Given the description of an element on the screen output the (x, y) to click on. 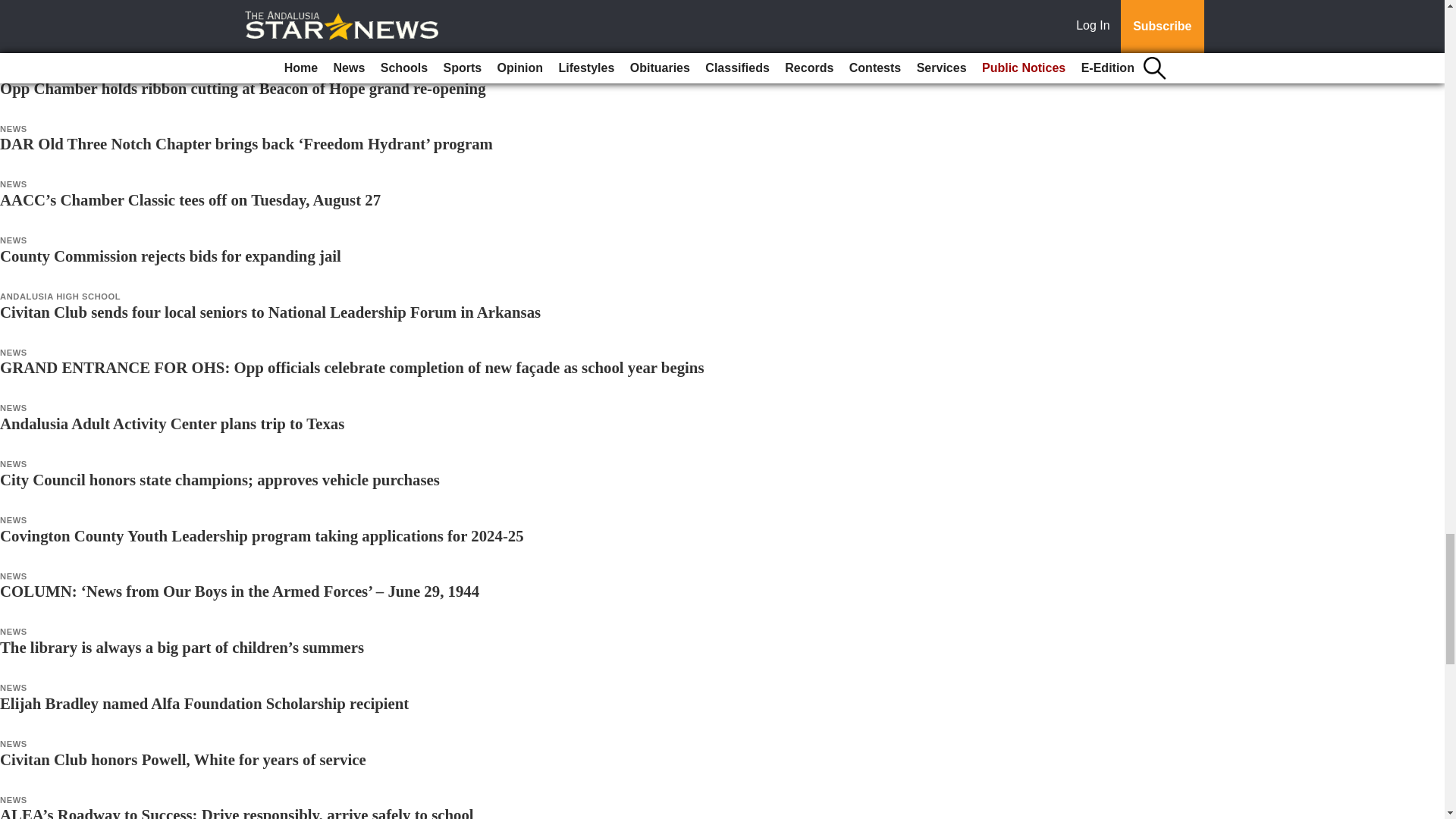
County Commission rejects bids for expanding jail (170, 255)
Elijah Bradley named Alfa Foundation Scholarship recipient (204, 702)
County Commission rejects bids for expanding jail (170, 255)
Andalusia Adult Activity Center plans trip to Texas (171, 423)
